Given the description of an element on the screen output the (x, y) to click on. 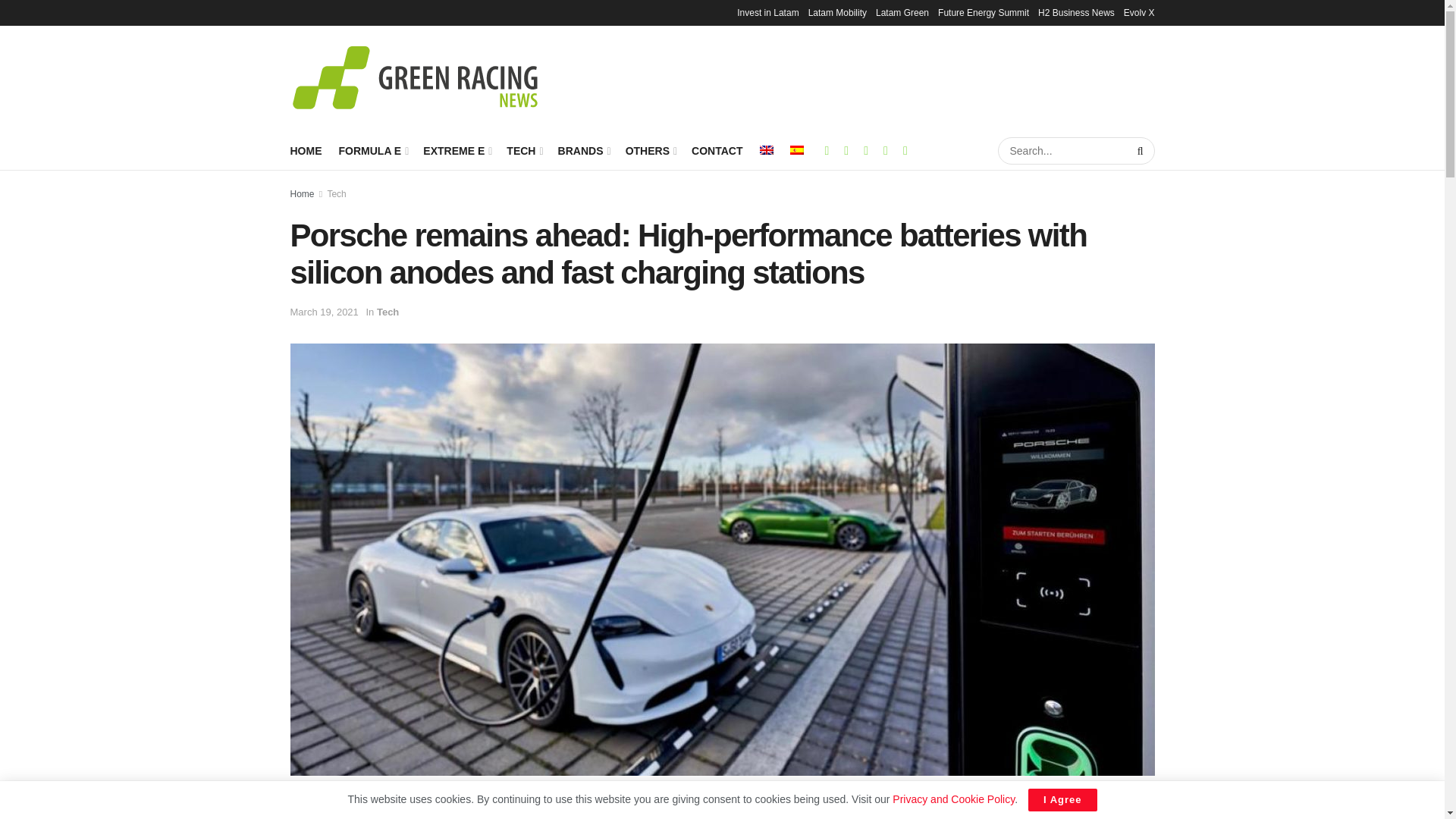
EXTREME E (456, 150)
FORMULA E (371, 150)
CONTACT (716, 150)
TECH (523, 150)
H2 Business News (1076, 12)
Latam Green (902, 12)
Latam Mobility (837, 12)
Future Energy Summit (983, 12)
Tech (336, 194)
OTHERS (650, 150)
Evolv X (1139, 12)
HOME (305, 150)
Home (301, 194)
Invest in Latam (766, 12)
BRANDS (582, 150)
